Given the description of an element on the screen output the (x, y) to click on. 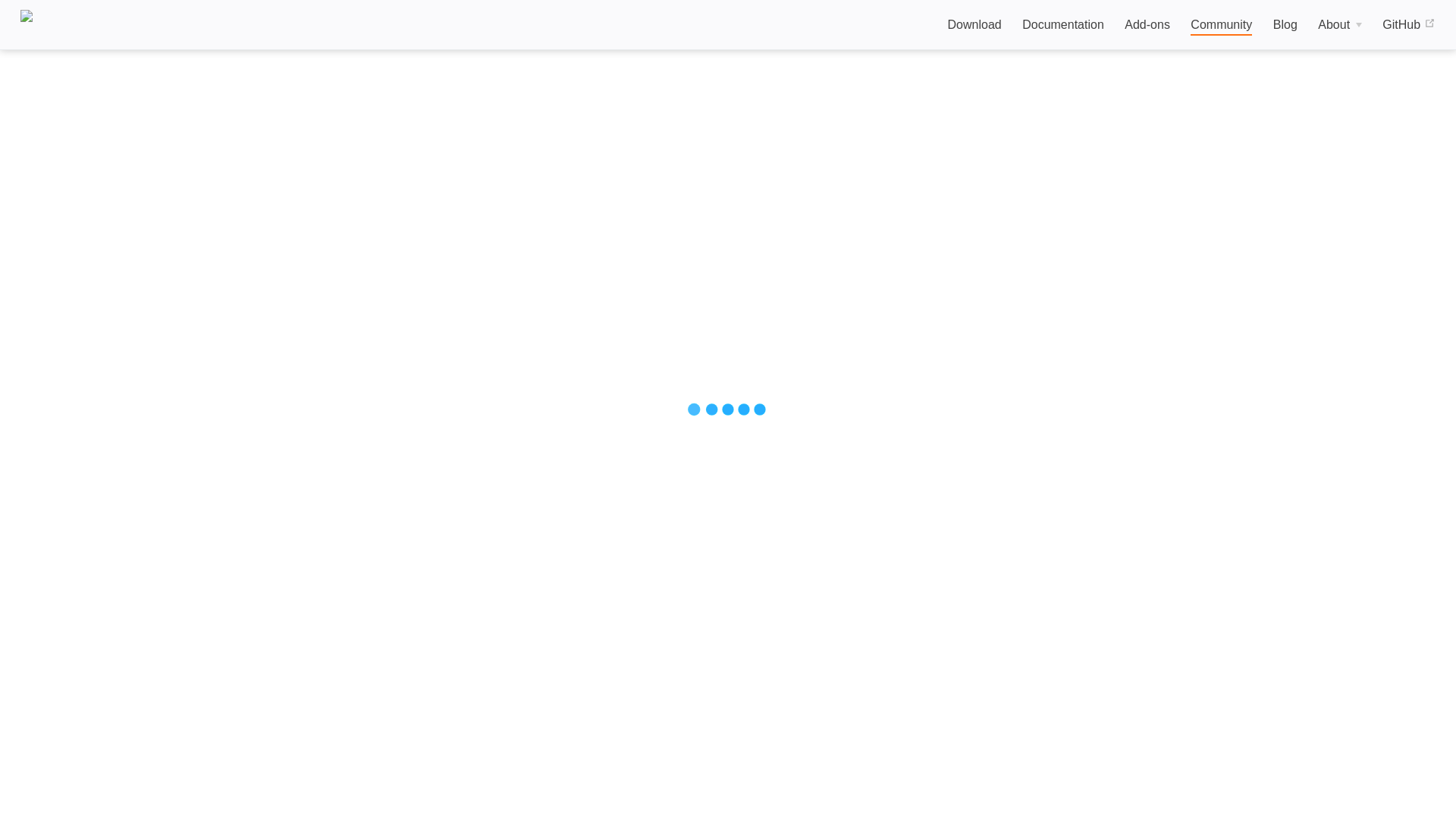
Add-ons (1147, 25)
Community (1221, 25)
Download (974, 25)
Blog (1284, 25)
Documentation (1062, 25)
About (1339, 25)
GitHub (1407, 25)
